Given the description of an element on the screen output the (x, y) to click on. 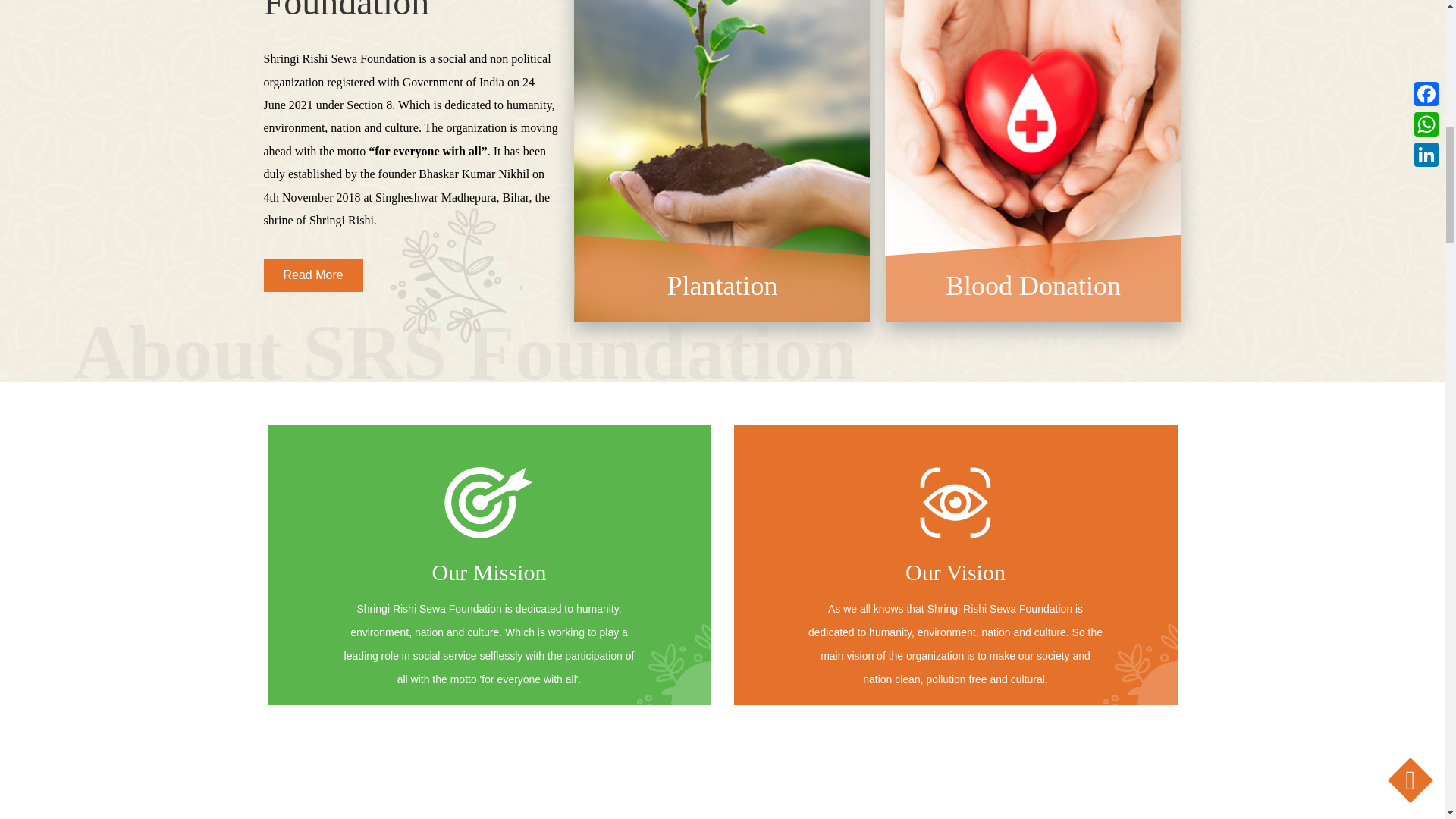
Read More (312, 274)
